Given the description of an element on the screen output the (x, y) to click on. 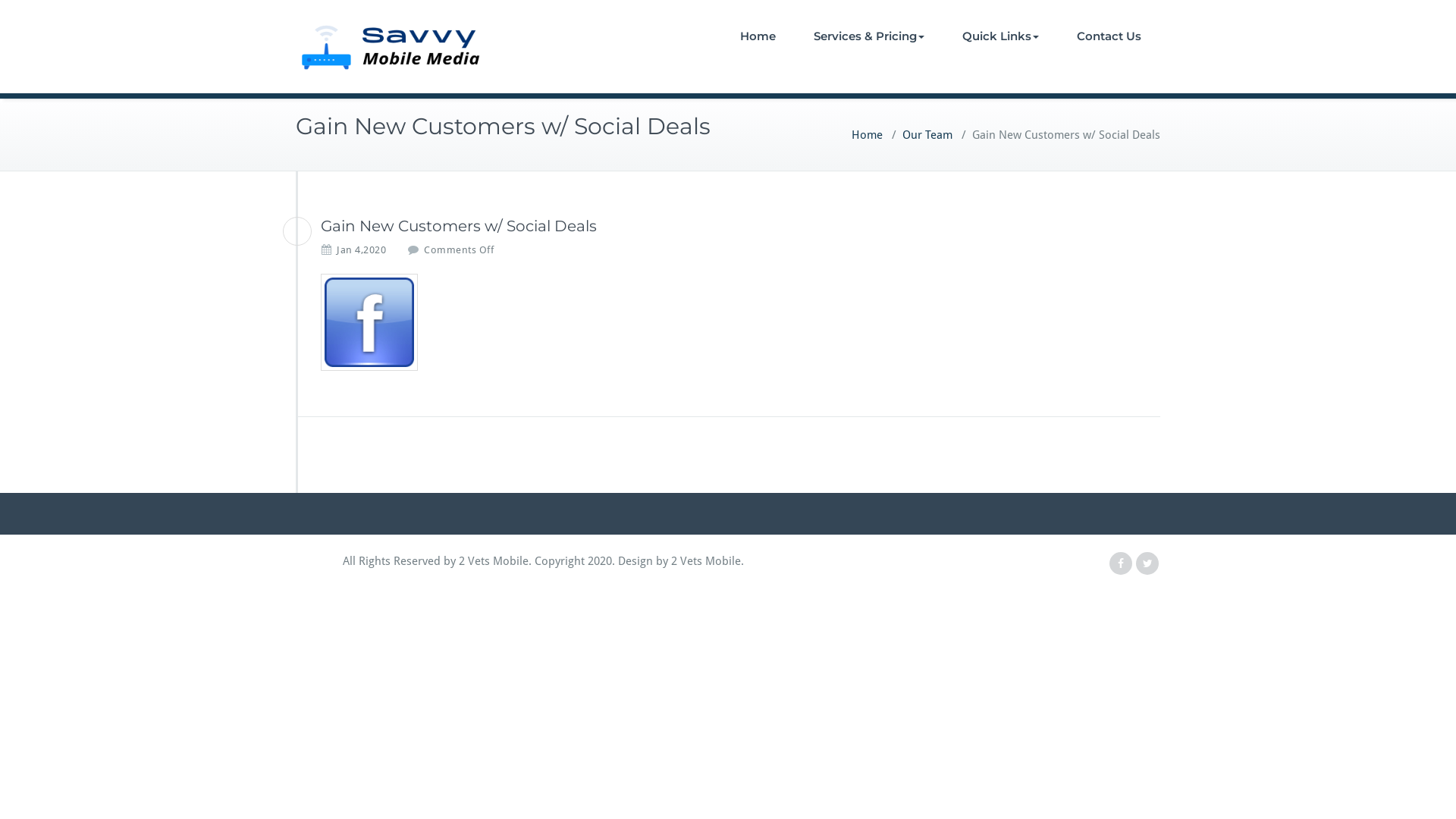
Services & Pricing Element type: text (868, 36)
Home Element type: text (866, 134)
Twitter Element type: hover (1146, 563)
Our Team Element type: text (927, 134)
Contact Us Element type: text (1108, 36)
Comments Off
on Gain New Customers w/ Social Deals Element type: text (458, 249)
Michael Ardillo Element type: hover (296, 230)
Quick Links Element type: text (1000, 36)
Facebook Element type: hover (1120, 563)
Home Element type: text (757, 36)
Jan 4,2020 Element type: text (360, 249)
